Given the description of an element on the screen output the (x, y) to click on. 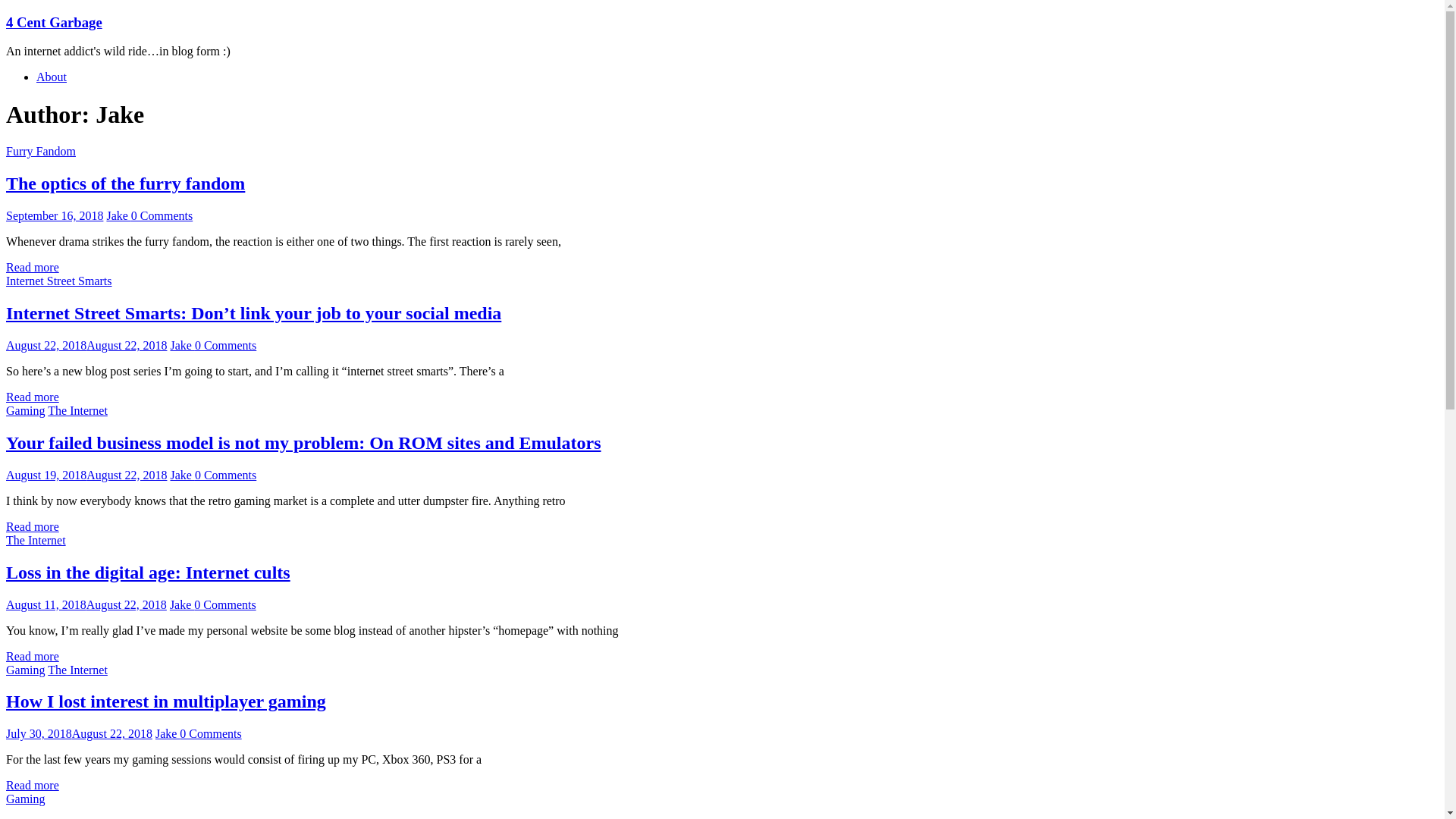
About Element type: text (51, 76)
The Internet Element type: text (35, 539)
Furry Fandom Element type: text (40, 150)
Jake Element type: text (167, 733)
The Internet Element type: text (77, 669)
Gaming Element type: text (25, 669)
Jake Element type: text (181, 474)
Read more Element type: text (32, 526)
Read more Element type: text (32, 266)
Jake Element type: text (181, 604)
The Internet Element type: text (77, 410)
0 Comments Element type: text (225, 474)
Read more Element type: text (32, 396)
September 16, 2018 Element type: text (54, 215)
0 Comments Element type: text (210, 733)
0 Comments Element type: text (225, 344)
The optics of the furry fandom Element type: text (125, 183)
Loss in the digital age: Internet cults Element type: text (148, 572)
August 11, 2018August 22, 2018 Element type: text (86, 604)
Read more Element type: text (32, 655)
4 Cent Garbage Element type: text (54, 22)
Skip to content Element type: text (5, 13)
August 22, 2018August 22, 2018 Element type: text (86, 344)
Jake Element type: text (118, 215)
August 19, 2018August 22, 2018 Element type: text (86, 474)
How I lost interest in multiplayer gaming Element type: text (166, 701)
0 Comments Element type: text (224, 604)
Jake Element type: text (181, 344)
0 Comments Element type: text (161, 215)
July 30, 2018August 22, 2018 Element type: text (79, 733)
Read more Element type: text (32, 784)
Gaming Element type: text (25, 410)
Gaming Element type: text (25, 798)
Internet Street Smarts Element type: text (59, 280)
